Given the description of an element on the screen output the (x, y) to click on. 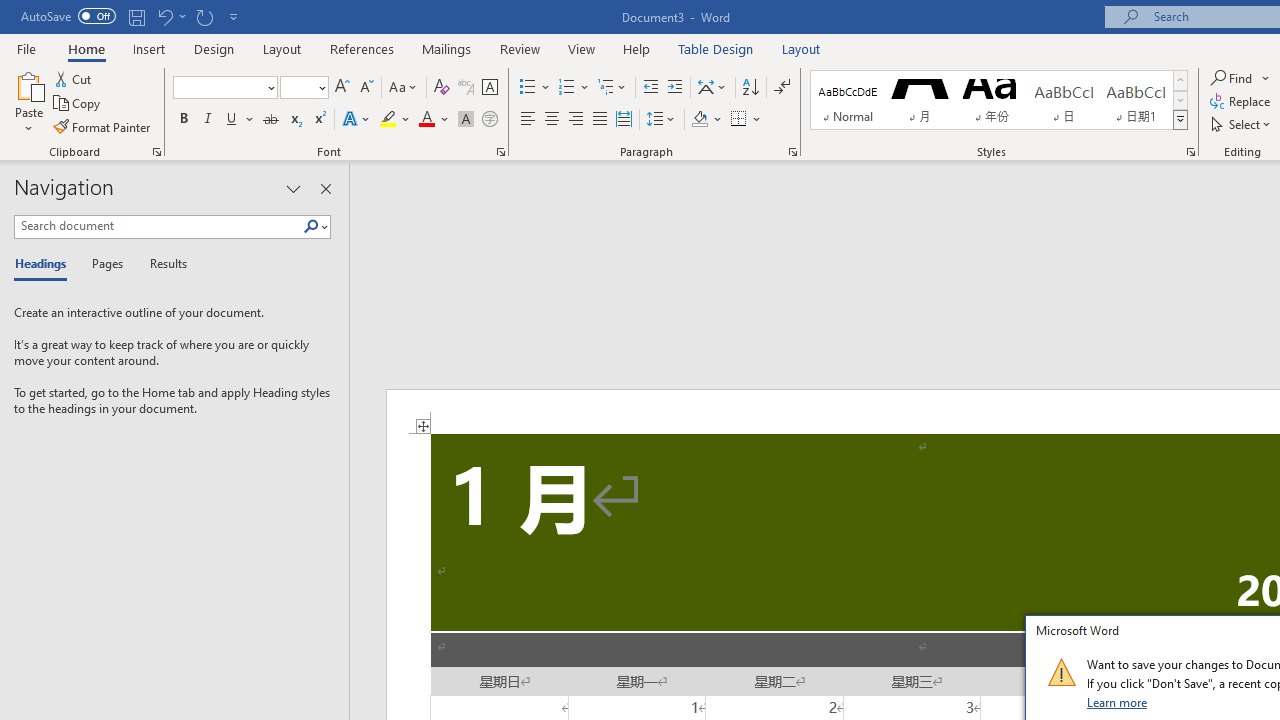
Italic (207, 119)
Headings (45, 264)
Justify (599, 119)
Undo Apply Quick Style (170, 15)
Subscript (294, 119)
Format Painter (103, 126)
Phonetic Guide... (465, 87)
